Given the description of an element on the screen output the (x, y) to click on. 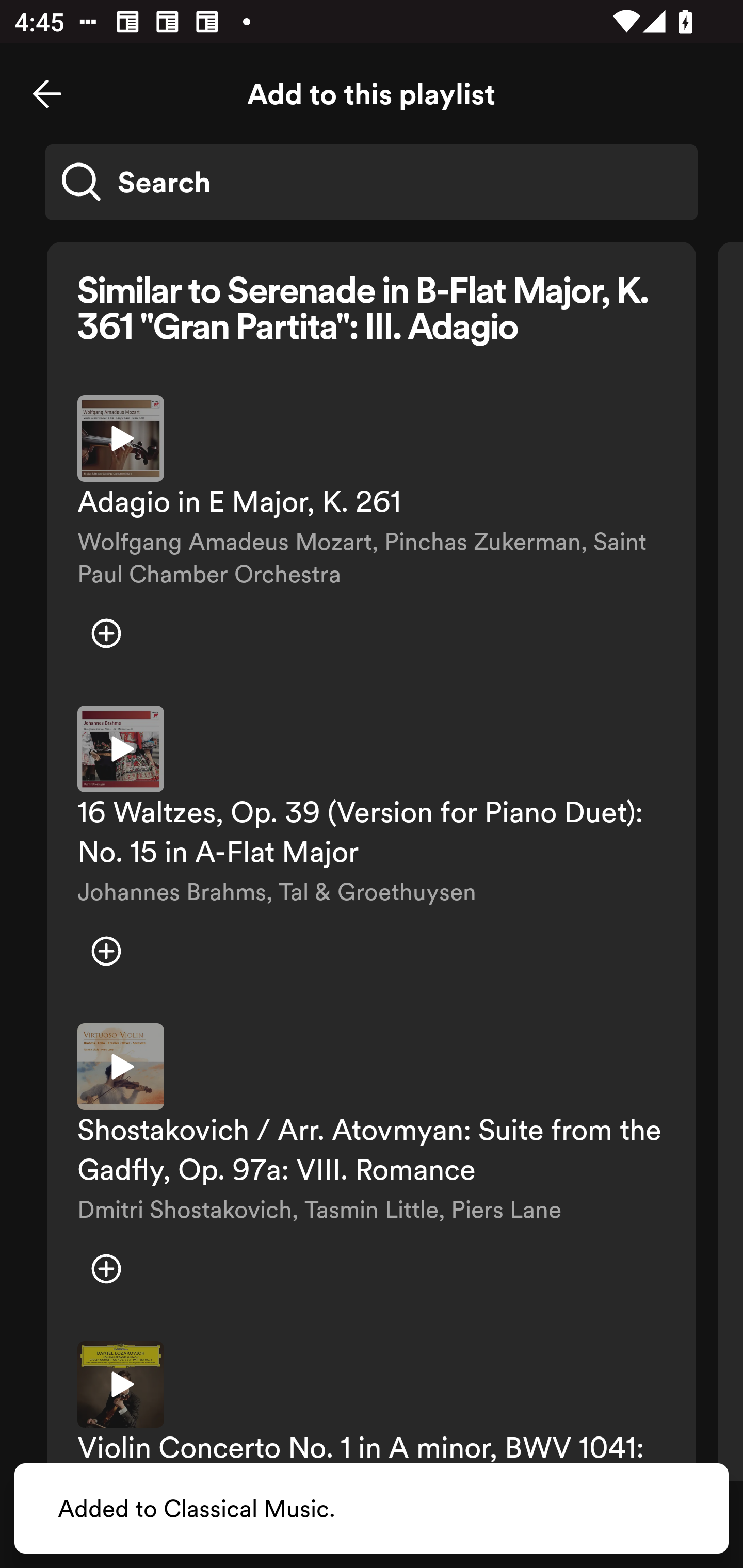
Close (46, 93)
Search (371, 181)
Play preview (120, 438)
Add item (106, 633)
Play preview (120, 748)
Add item (106, 950)
Play preview (120, 1066)
Add item (106, 1269)
Play preview (120, 1384)
